Given the description of an element on the screen output the (x, y) to click on. 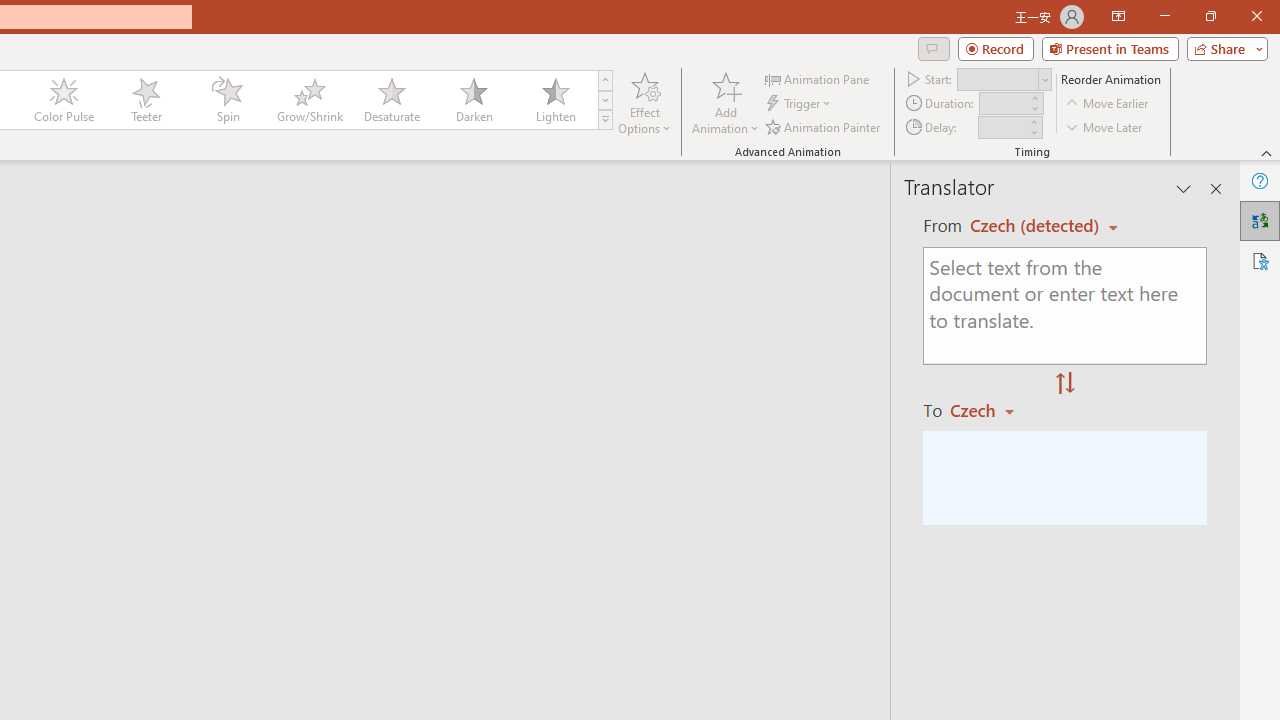
Swap "from" and "to" languages. (1065, 383)
Spin (227, 100)
Animation Pane (818, 78)
Animation Styles (605, 120)
Trigger (799, 103)
Czech (991, 409)
Grow/Shrink (309, 100)
